Given the description of an element on the screen output the (x, y) to click on. 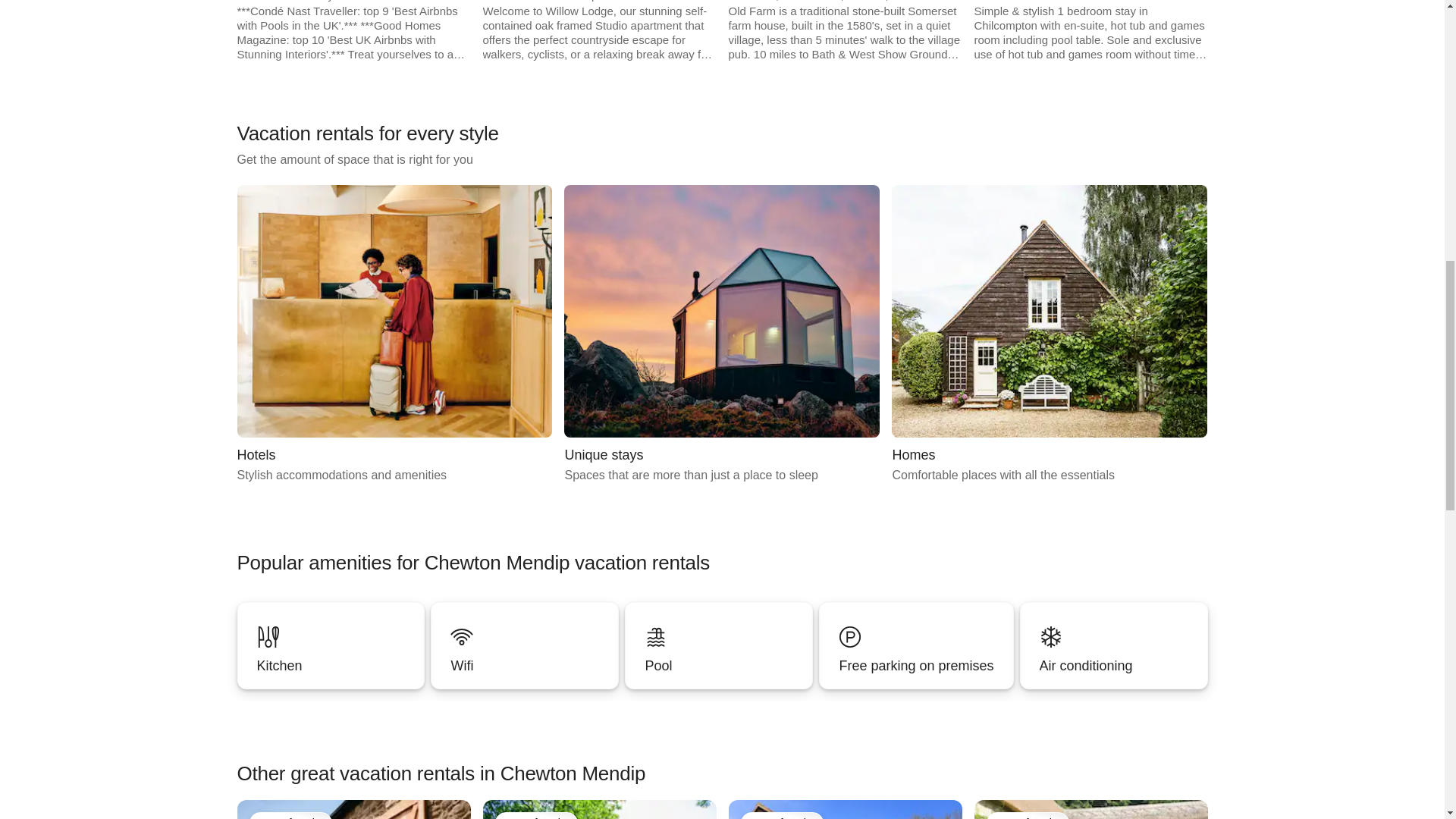
Pool (718, 645)
Kitchen (330, 645)
Free parking on premises (915, 645)
Free parking on premises (915, 665)
Wifi (523, 665)
Wifi (524, 645)
Kitchen (330, 645)
Wifi (524, 645)
Free parking on premises (915, 645)
Air conditioning (1113, 665)
